Given the description of an element on the screen output the (x, y) to click on. 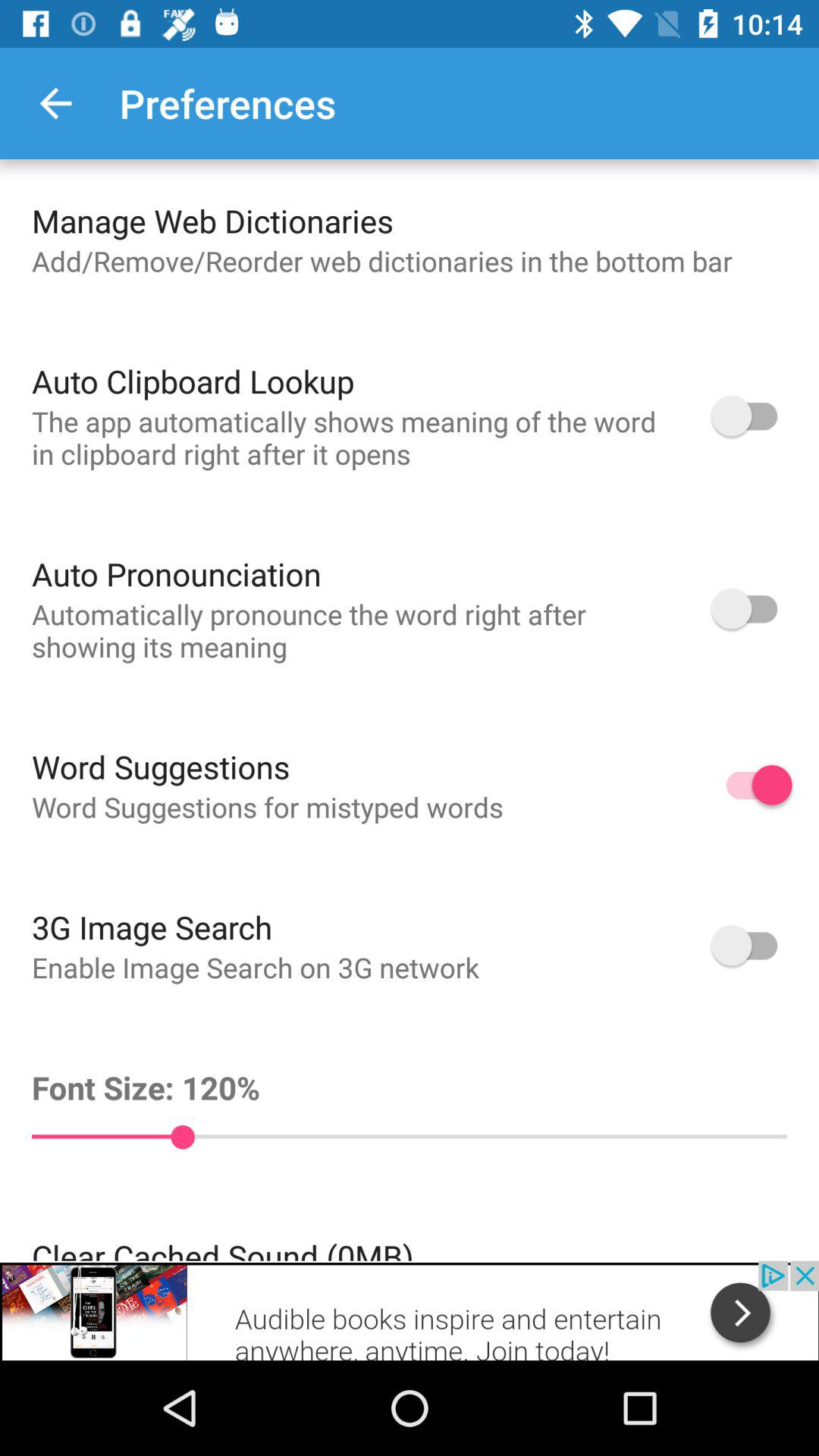
advertisement (409, 1310)
